Given the description of an element on the screen output the (x, y) to click on. 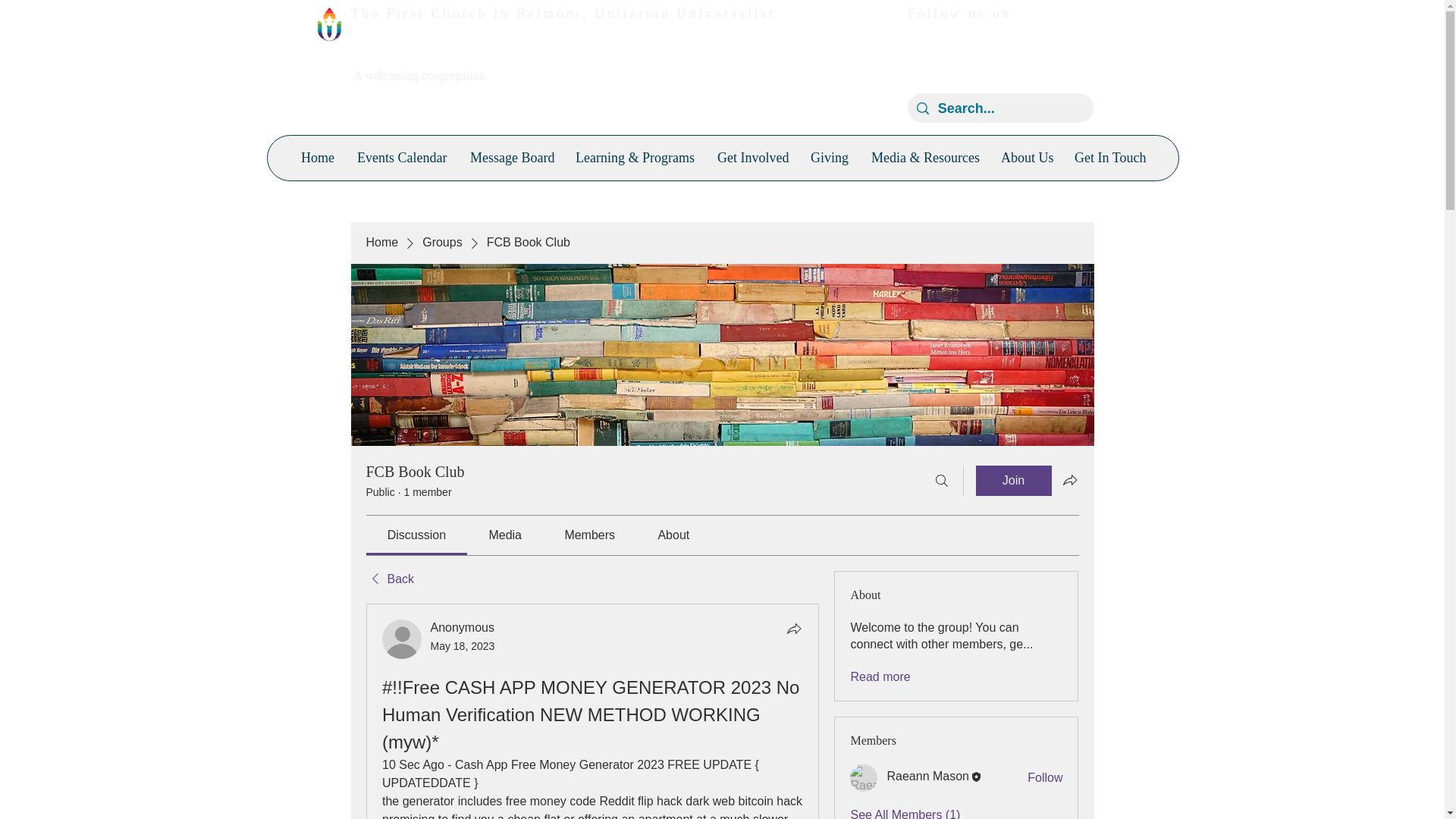
Events Calendar (401, 157)
First Church in Belmont, Unitarian Universalist (579, 13)
The (367, 13)
Raeann Mason (863, 777)
Follow us on (958, 13)
Home (316, 157)
Message Board (510, 157)
